Given the description of an element on the screen output the (x, y) to click on. 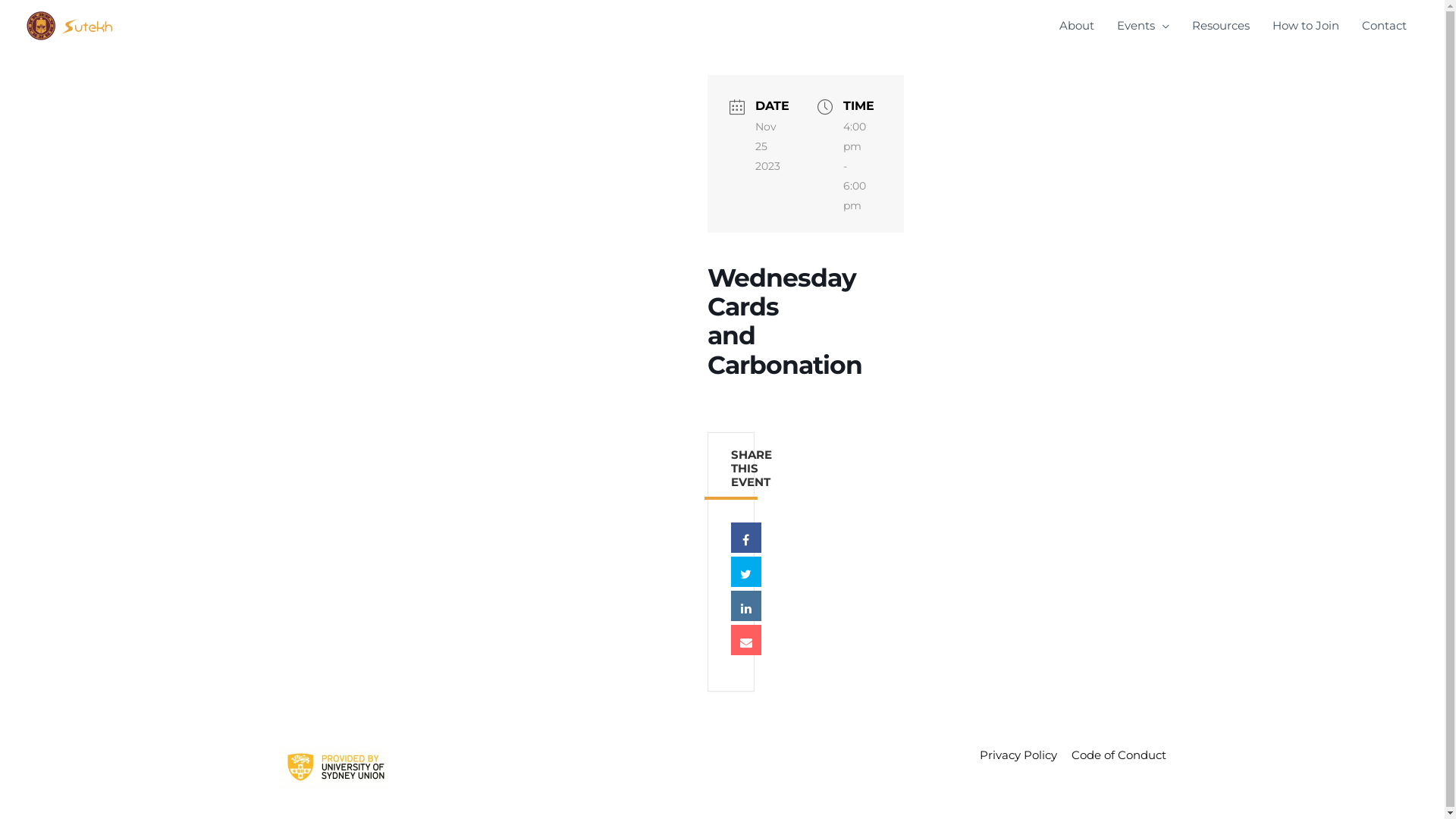
Code of Conduct Element type: text (1113, 754)
Privacy Policy Element type: text (1011, 754)
About Element type: text (1076, 25)
Contact Element type: text (1384, 25)
Share on Facebook Element type: hover (746, 537)
Tweet Element type: hover (746, 571)
Linkedin Element type: hover (746, 605)
Resources Element type: text (1220, 25)
Email Element type: hover (746, 639)
How to Join Element type: text (1305, 25)
Events Element type: text (1142, 25)
